Given the description of an element on the screen output the (x, y) to click on. 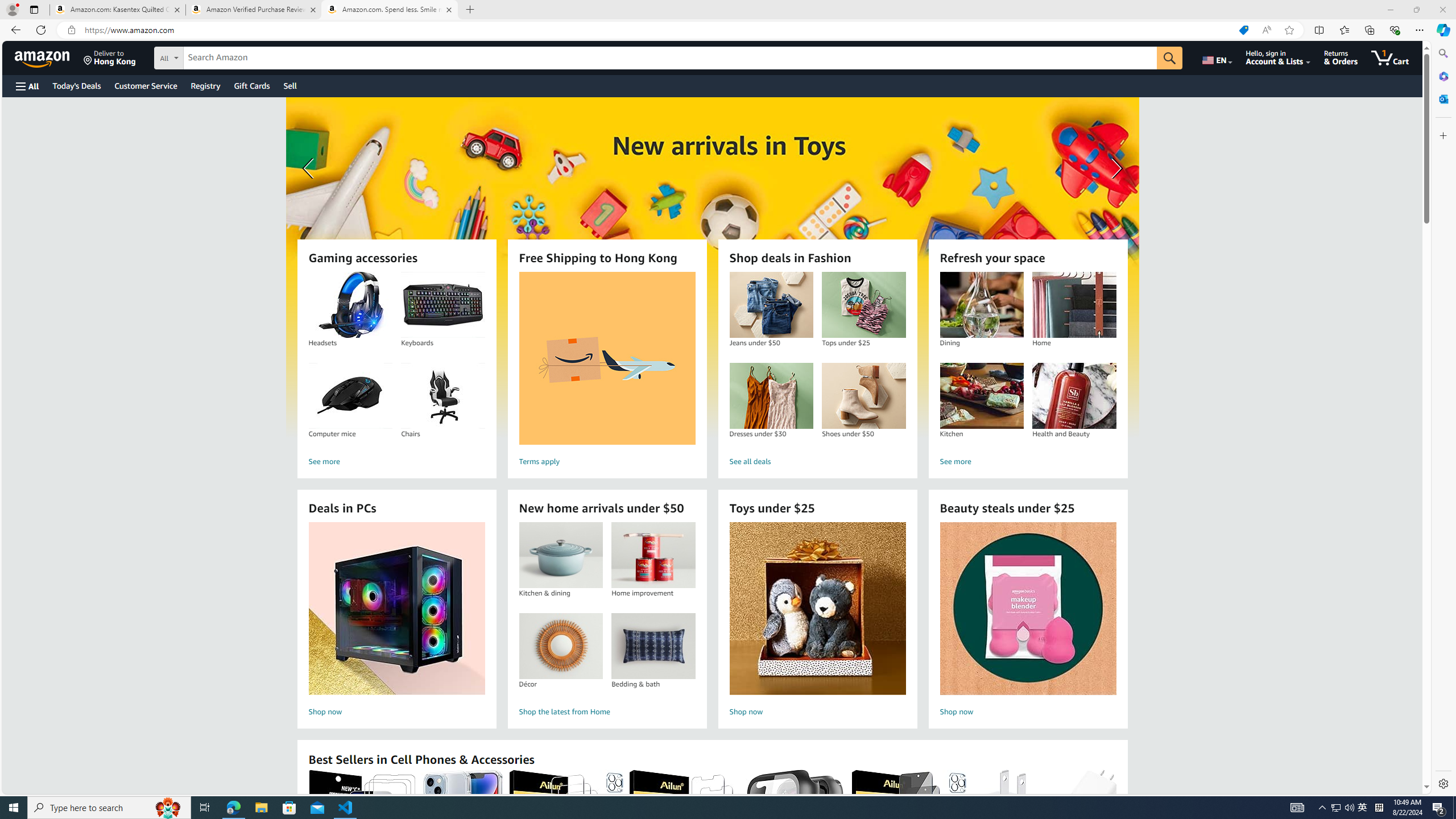
Computer mice (350, 395)
Customer Service (145, 85)
Jeans under $50 (771, 304)
Keyboards (443, 304)
Running applications (707, 807)
Kitchen (981, 395)
Previous slide (309, 168)
